Given the description of an element on the screen output the (x, y) to click on. 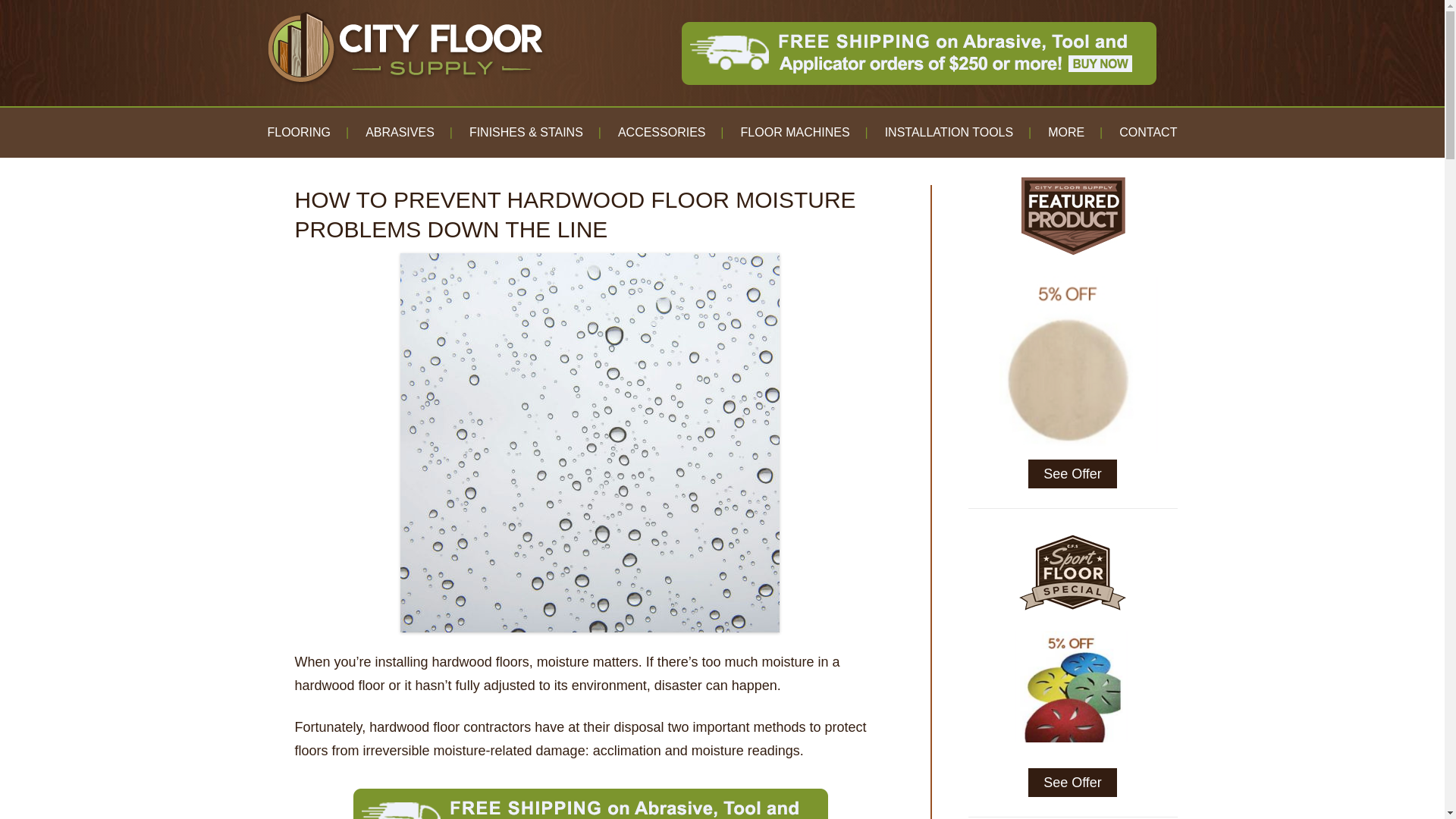
INSTALLATION TOOLS (949, 132)
See Offer (1071, 782)
ABRASIVES (399, 132)
City Floor Supply Blog (408, 55)
See Offer (1071, 473)
DUST CONTAINMENT (1123, 181)
FLOOR MACHINES (795, 132)
FLOORING (298, 132)
ACCESSORIES (661, 132)
CONTACT (1147, 132)
